Given the description of an element on the screen output the (x, y) to click on. 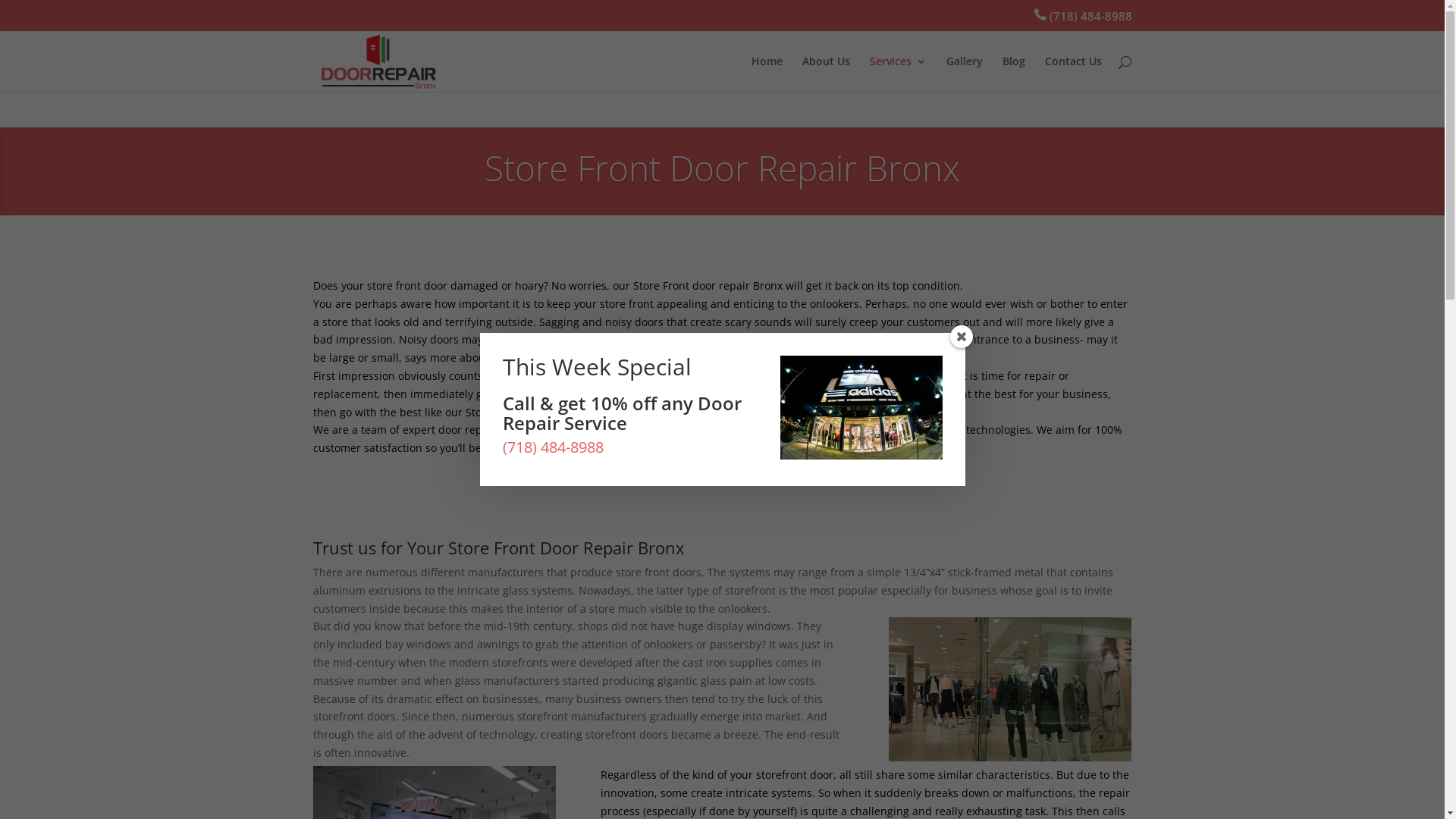
(718) 484-8988 Element type: text (1080, 15)
Blog Element type: text (1013, 73)
Home Element type: text (765, 73)
(718) 484-8988 Element type: text (552, 446)
Contact Us Element type: text (1072, 73)
Gallery Element type: text (964, 73)
About Us Element type: text (826, 73)
Services Element type: text (897, 73)
